Given the description of an element on the screen output the (x, y) to click on. 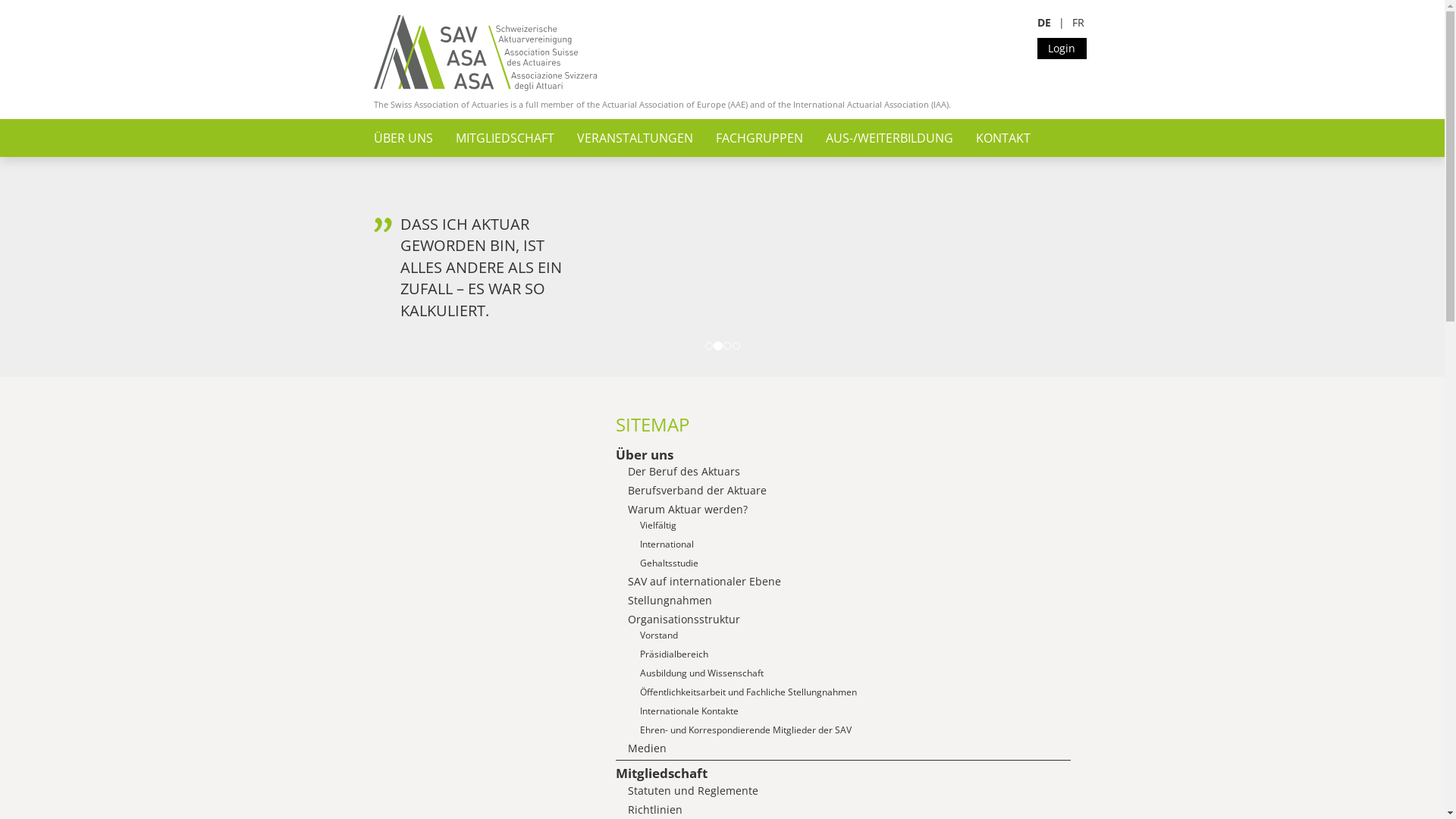
Gehaltsstudie Element type: text (669, 562)
Der Beruf des Aktuars Element type: text (683, 471)
Login Element type: text (1061, 48)
KONTAKT Element type: text (1002, 137)
Ausbildung und Wissenschaft Element type: text (701, 672)
Statuten und Reglemente Element type: text (692, 790)
Ehren- und Korrespondierende Mitglieder der SAV Element type: text (745, 729)
Richtlinien Element type: text (654, 809)
Berufsverband der Aktuare Element type: text (696, 490)
AUS-/WEITERBILDUNG Element type: text (888, 137)
VERANSTALTUNGEN Element type: text (634, 137)
SAV auf internationaler Ebene Element type: text (704, 581)
Vorstand Element type: text (658, 634)
DE Element type: text (1044, 22)
Internationale Kontakte Element type: text (689, 710)
FACHGRUPPEN Element type: text (759, 137)
Mitgliedschaft Element type: text (661, 772)
Organisationsstruktur Element type: text (683, 618)
Warum Aktuar werden? Element type: text (687, 509)
International Element type: text (666, 543)
Medien Element type: text (646, 747)
FR Element type: text (1078, 22)
Stellungnahmen Element type: text (669, 600)
MITGLIEDSCHAFT Element type: text (504, 137)
Schweizerische Aktuarsvereinigung Element type: hover (484, 53)
